Given the description of an element on the screen output the (x, y) to click on. 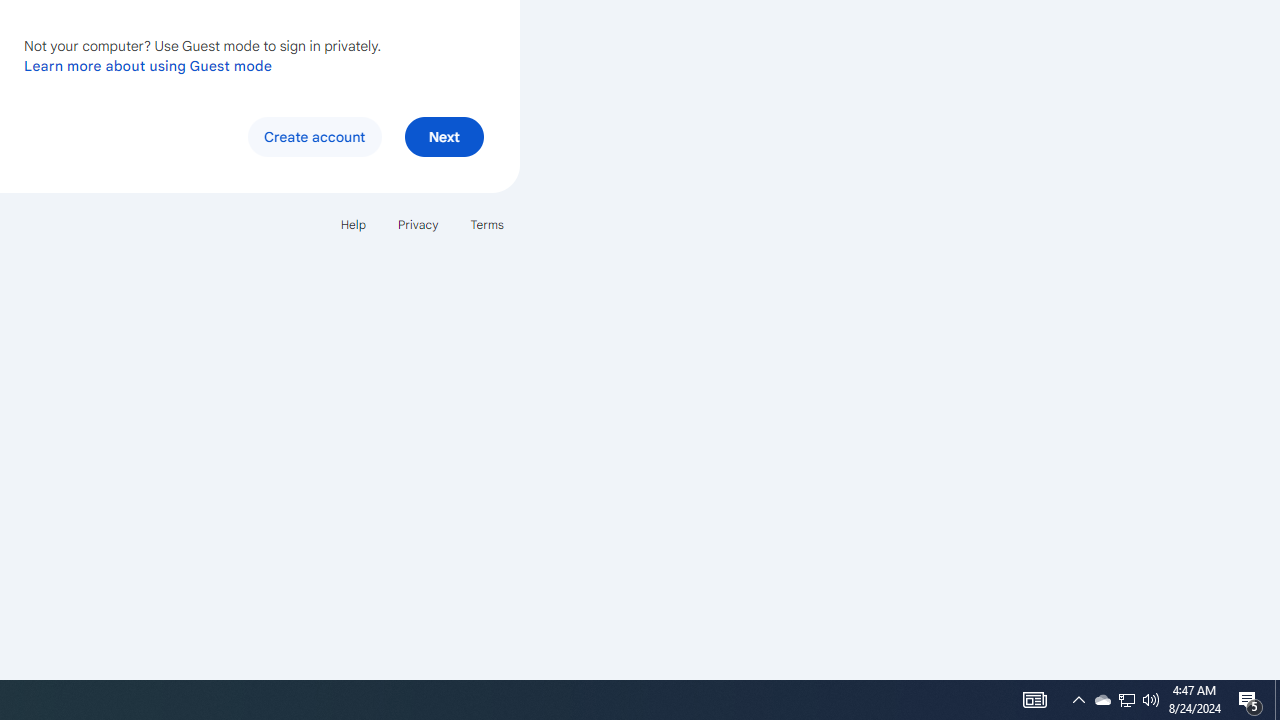
Create account (314, 135)
Learn more about using Guest mode (148, 65)
